Given the description of an element on the screen output the (x, y) to click on. 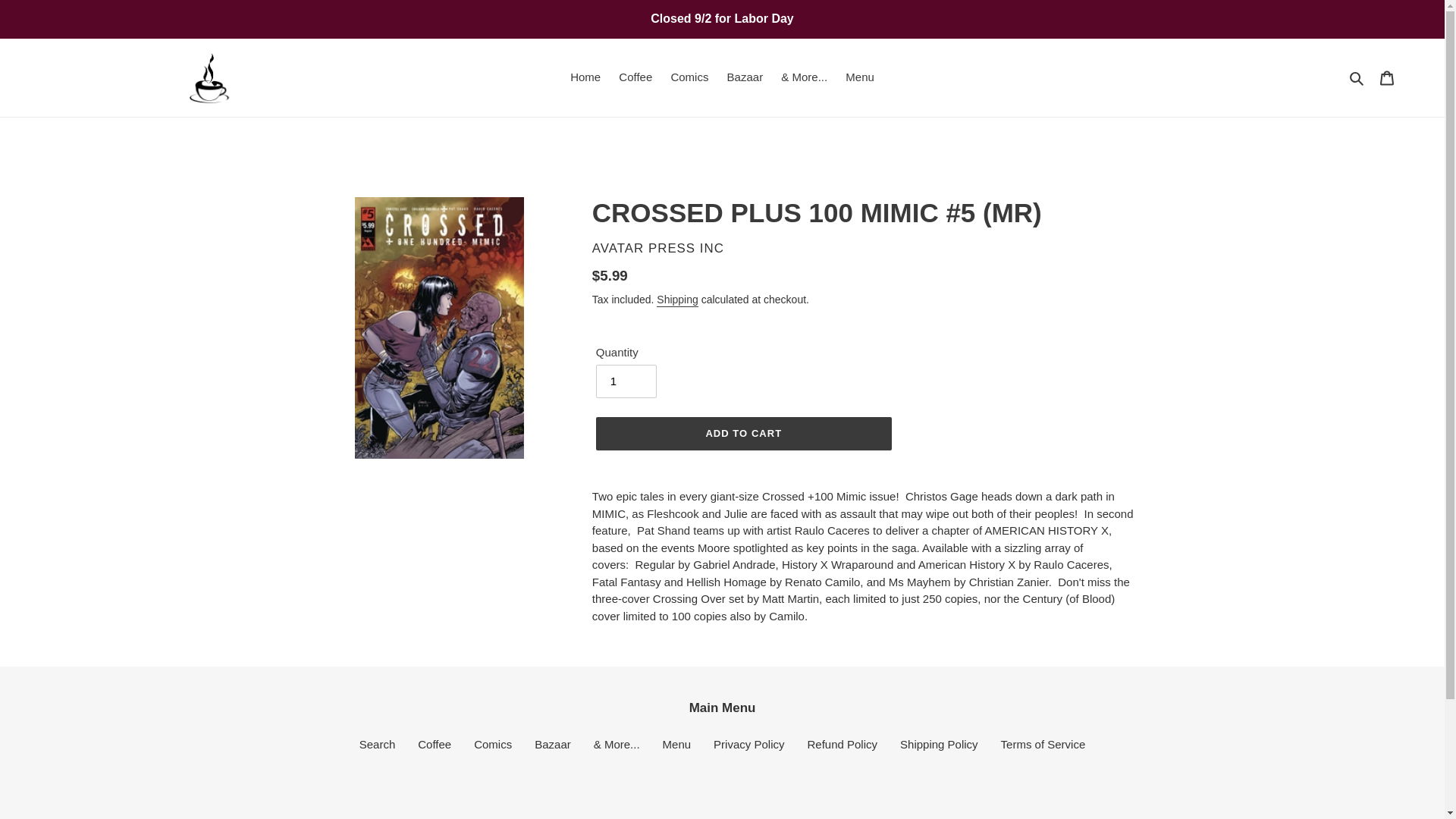
Search (1357, 76)
Coffee (434, 744)
1 (625, 381)
Refund Policy (841, 744)
Menu (676, 744)
Bazaar (745, 77)
Terms of Service (1043, 744)
Search (377, 744)
Cart (1387, 77)
Shipping Policy (938, 744)
